Given the description of an element on the screen output the (x, y) to click on. 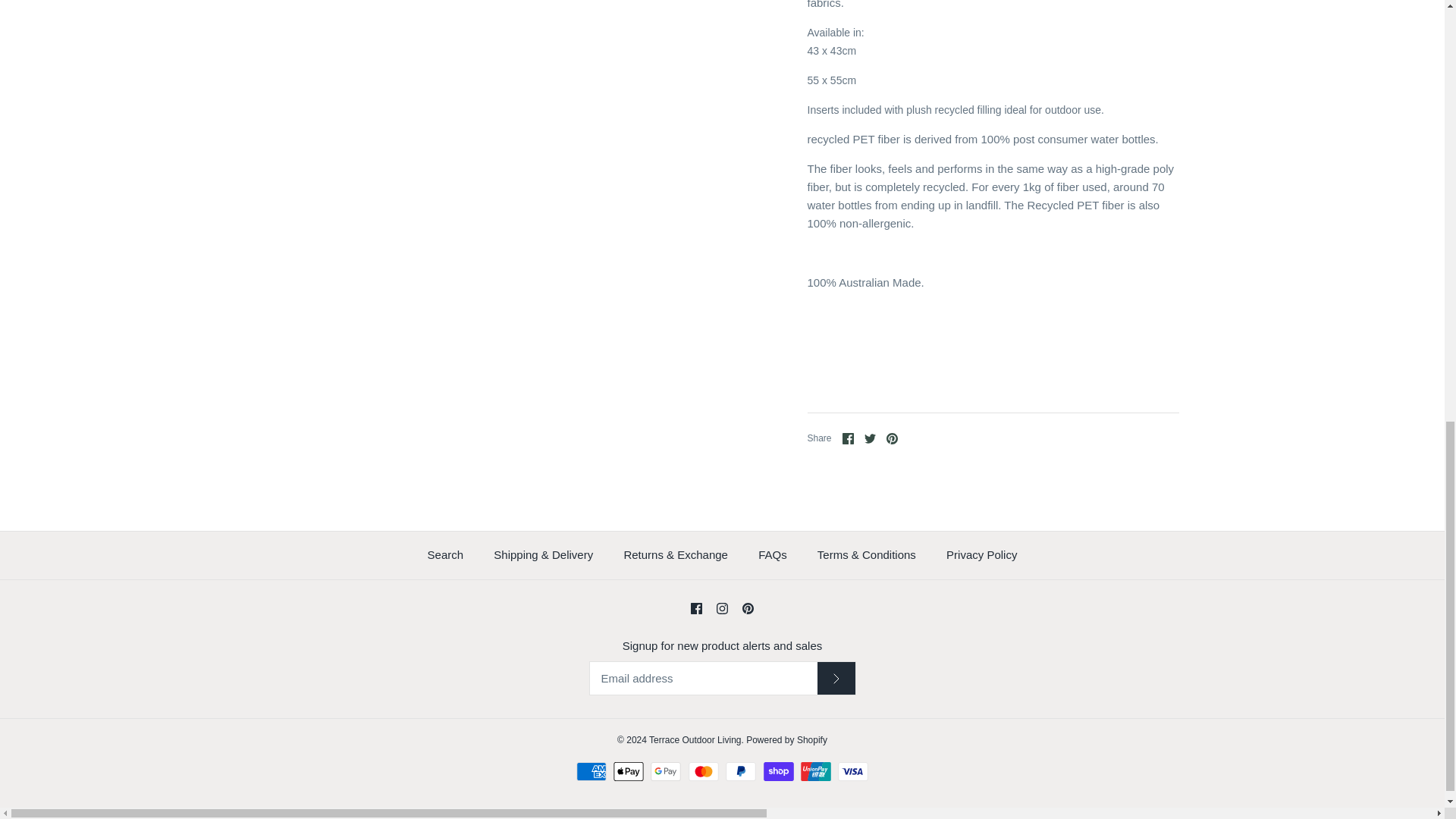
Apple Pay (627, 771)
Mastercard (703, 771)
Facebook (695, 608)
American Express (591, 771)
Google Pay (665, 771)
Instagram (722, 608)
Pinterest (748, 608)
Pinterest (892, 438)
Twitter (870, 438)
Facebook (848, 438)
